Given the description of an element on the screen output the (x, y) to click on. 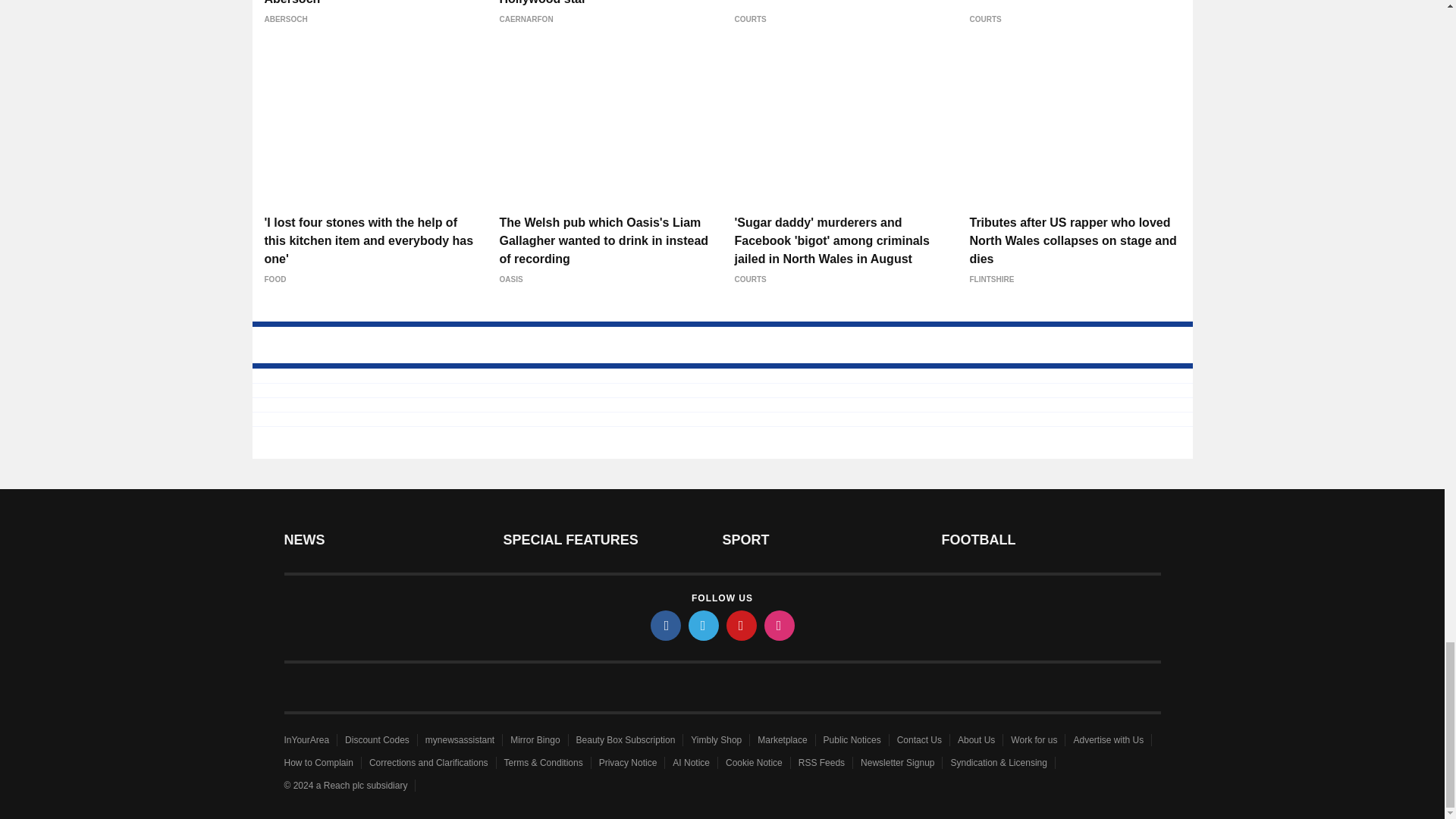
facebook (665, 625)
pinterest (741, 625)
instagram (779, 625)
twitter (703, 625)
